Given the description of an element on the screen output the (x, y) to click on. 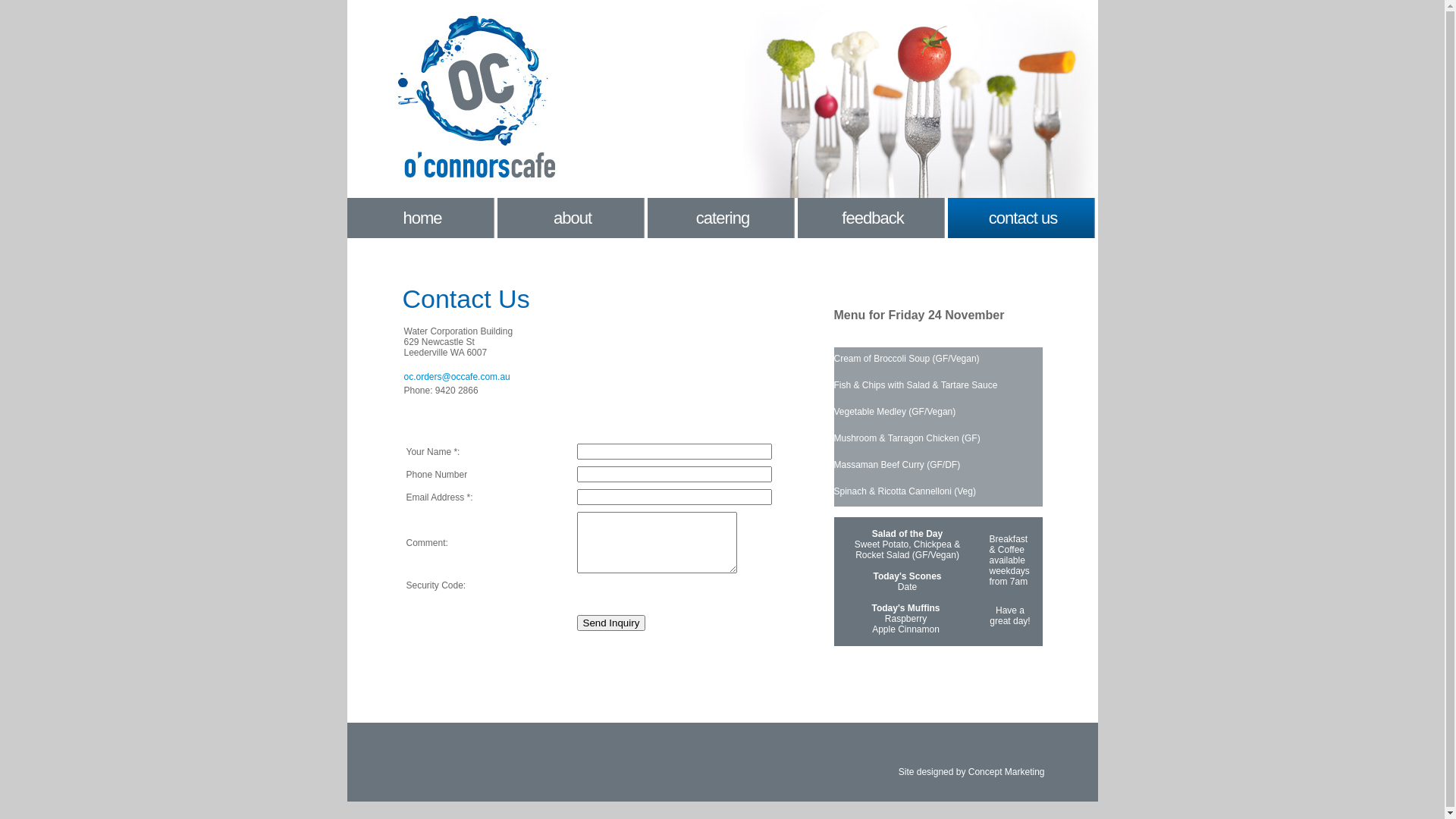
Concept Marketing Element type: text (1006, 770)
feedback Element type: text (872, 217)
home Element type: text (422, 217)
contact us Element type: text (1022, 217)
catering Element type: text (722, 217)
oc.orders@occafe.com.au Element type: text (456, 376)
Send Inquiry Element type: text (610, 622)
about Element type: text (572, 217)
